Given the description of an element on the screen output the (x, y) to click on. 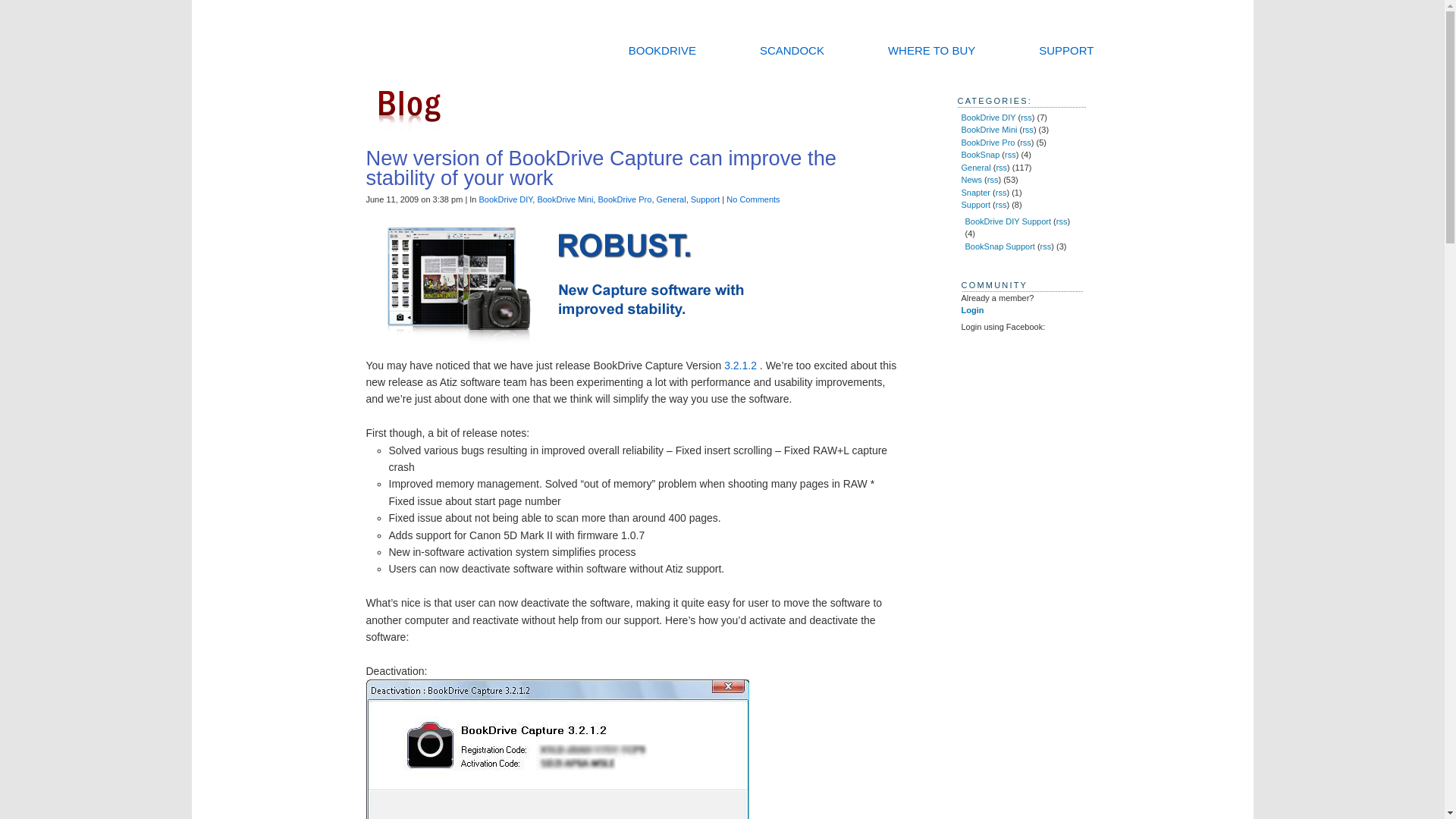
No Comments (752, 198)
rss (1027, 129)
BookDrive Mini (988, 129)
3.2.1.2 (740, 365)
SCANDOCK (792, 50)
BookSnap (980, 153)
BookDrive DIY (505, 198)
BOOKDRIVE (661, 50)
BookDrive Pro (623, 198)
rss (1026, 116)
BookDrive Mini (564, 198)
SUPPORT (1066, 50)
rss (1025, 142)
BookDrive DIY (988, 116)
